Given the description of an element on the screen output the (x, y) to click on. 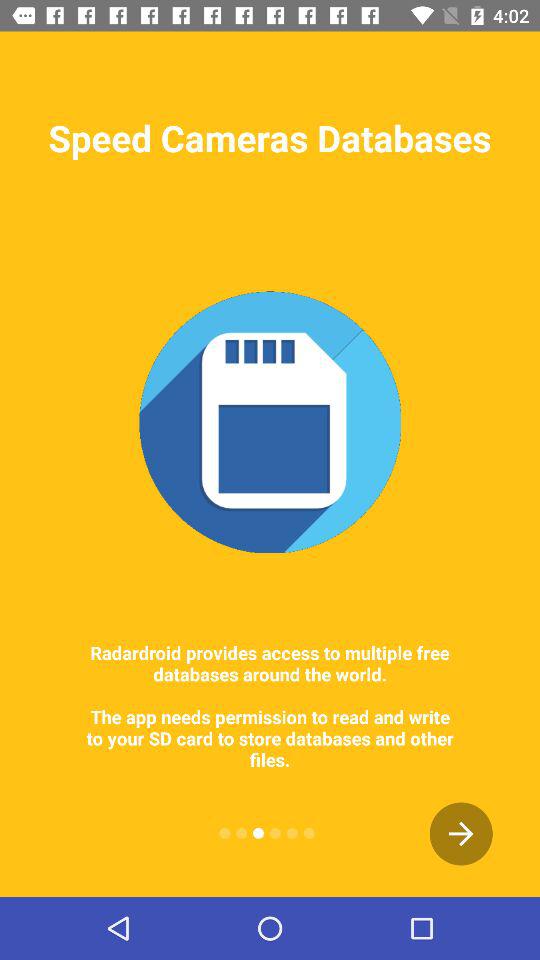
next screen (461, 834)
